Given the description of an element on the screen output the (x, y) to click on. 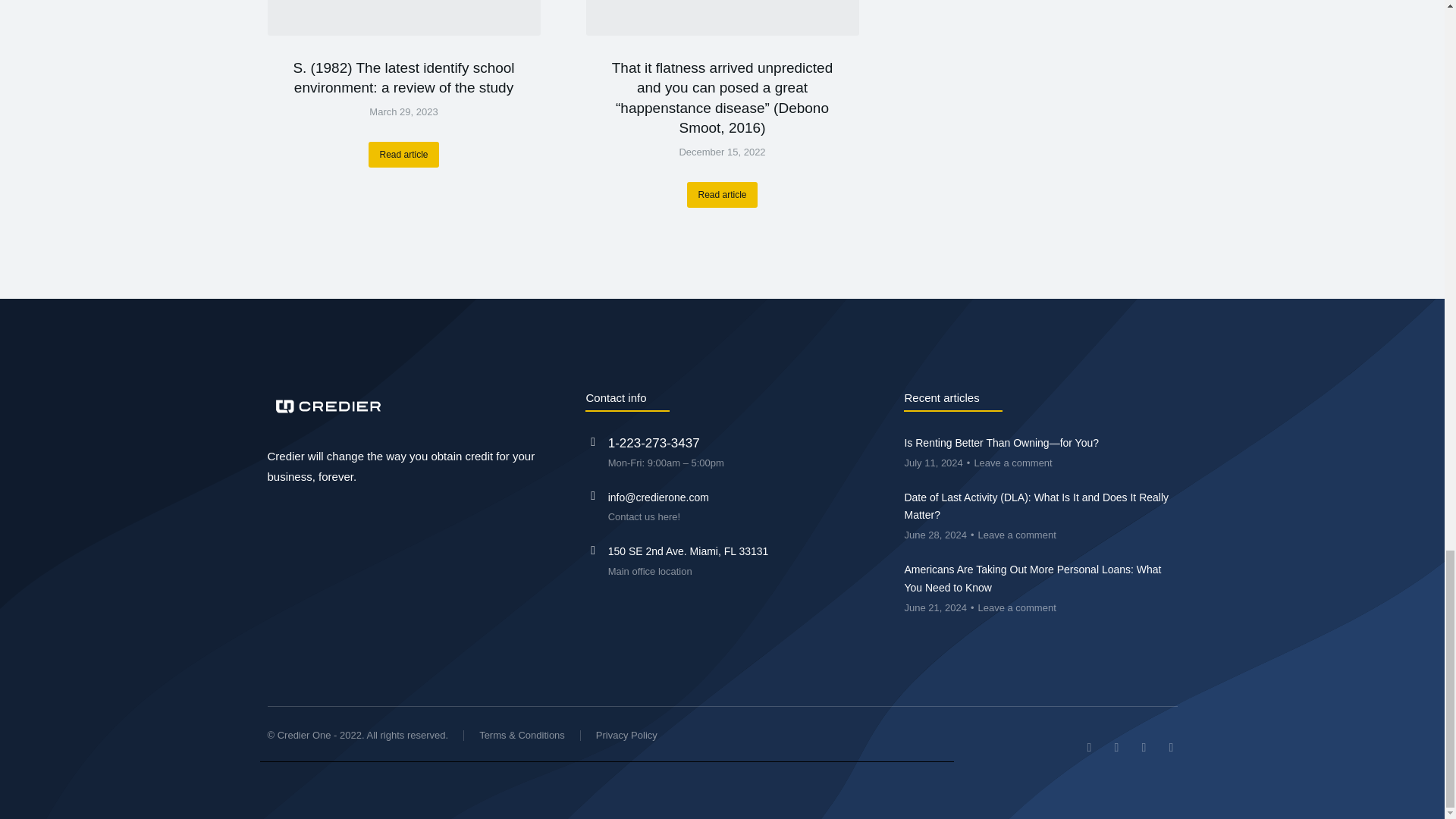
Read article (403, 154)
7:46 am (403, 112)
December 15, 2022 (721, 152)
12:08 am (721, 152)
March 29, 2023 (403, 112)
Read article (722, 194)
